Given the description of an element on the screen output the (x, y) to click on. 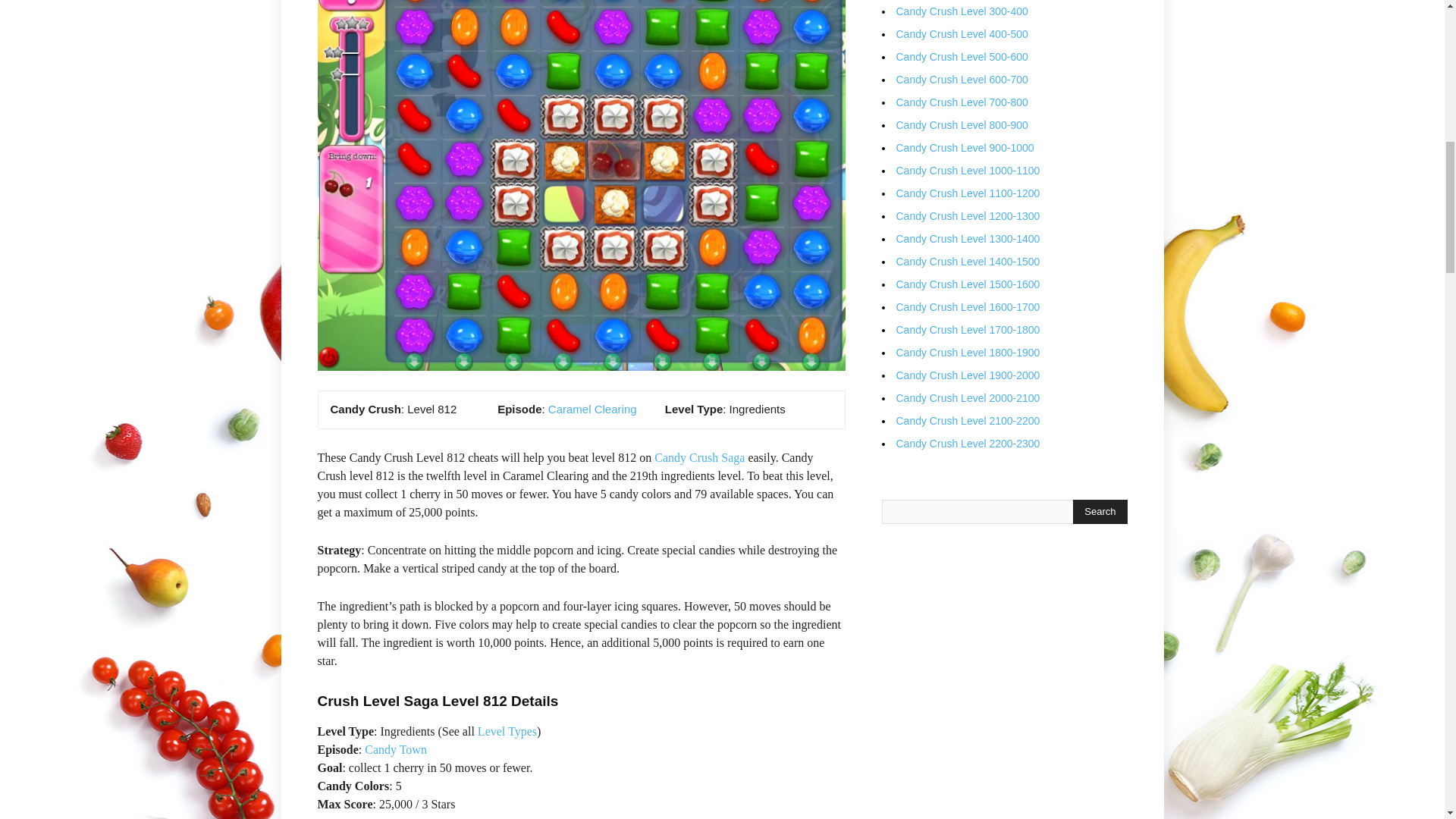
Search (1099, 511)
